Given the description of an element on the screen output the (x, y) to click on. 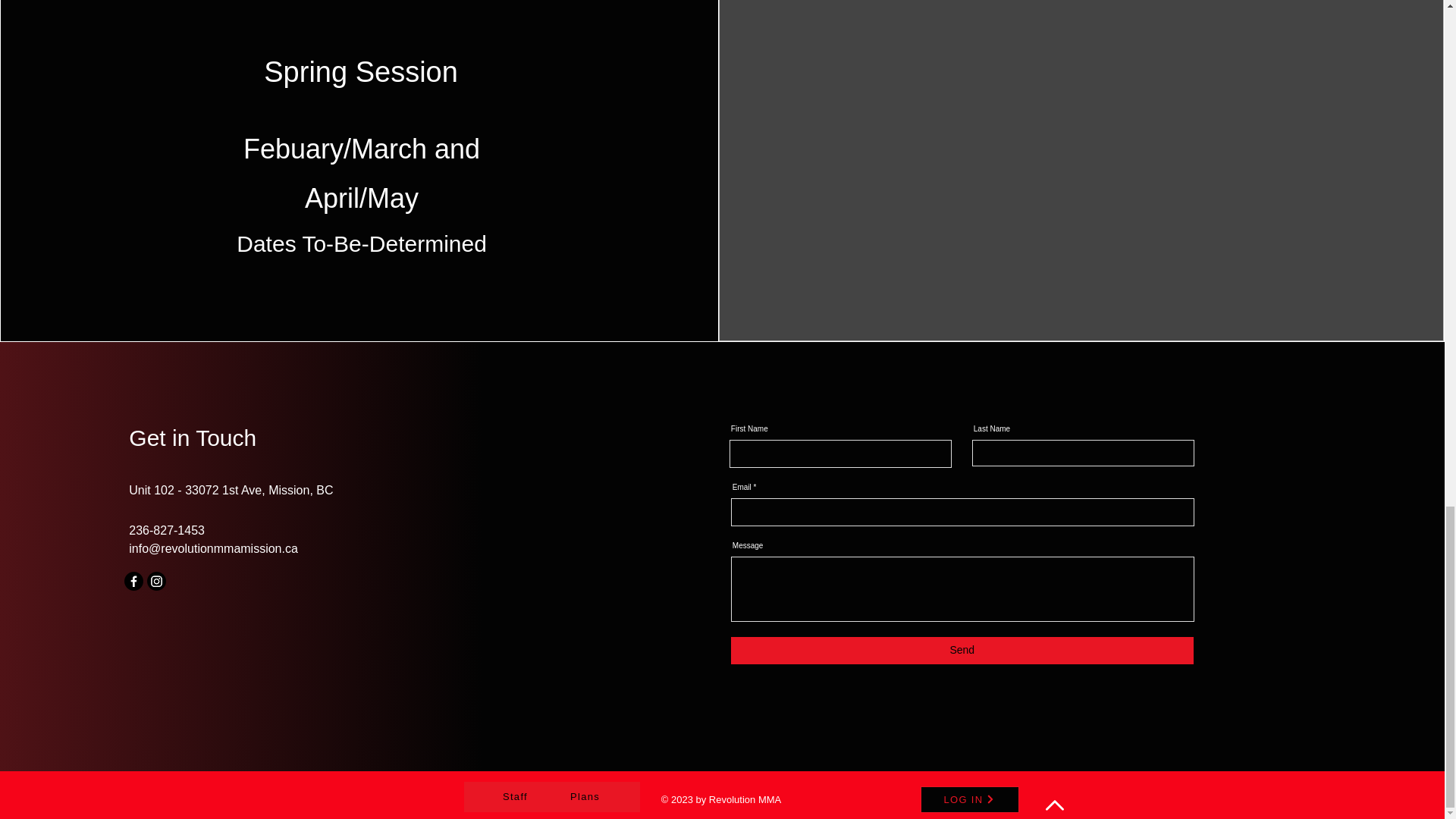
Send (961, 650)
Plans (587, 797)
Staff (517, 797)
LOG IN (969, 799)
